Given the description of an element on the screen output the (x, y) to click on. 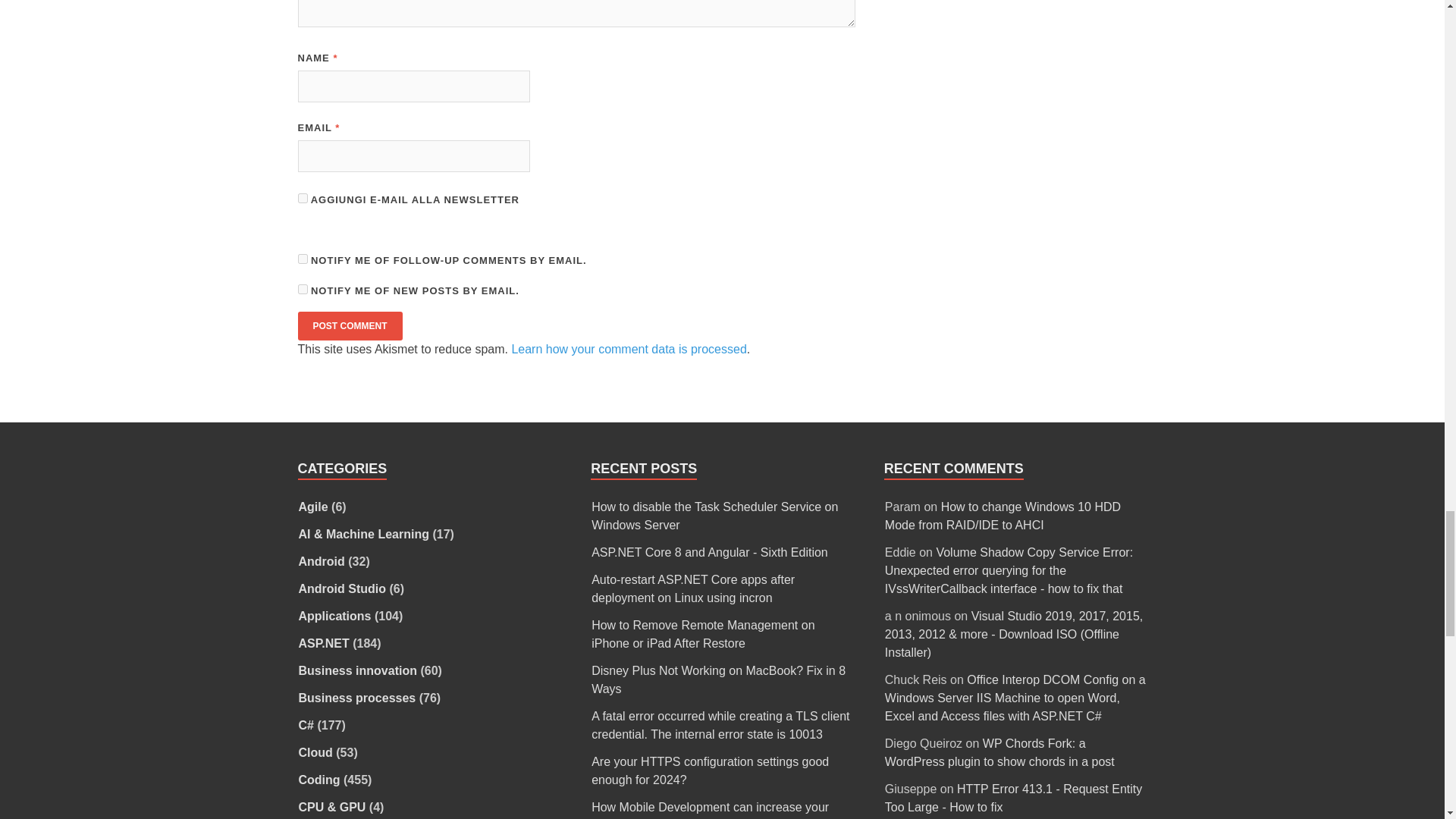
Post Comment (349, 326)
1 (302, 198)
subscribe (302, 289)
subscribe (302, 258)
